Given the description of an element on the screen output the (x, y) to click on. 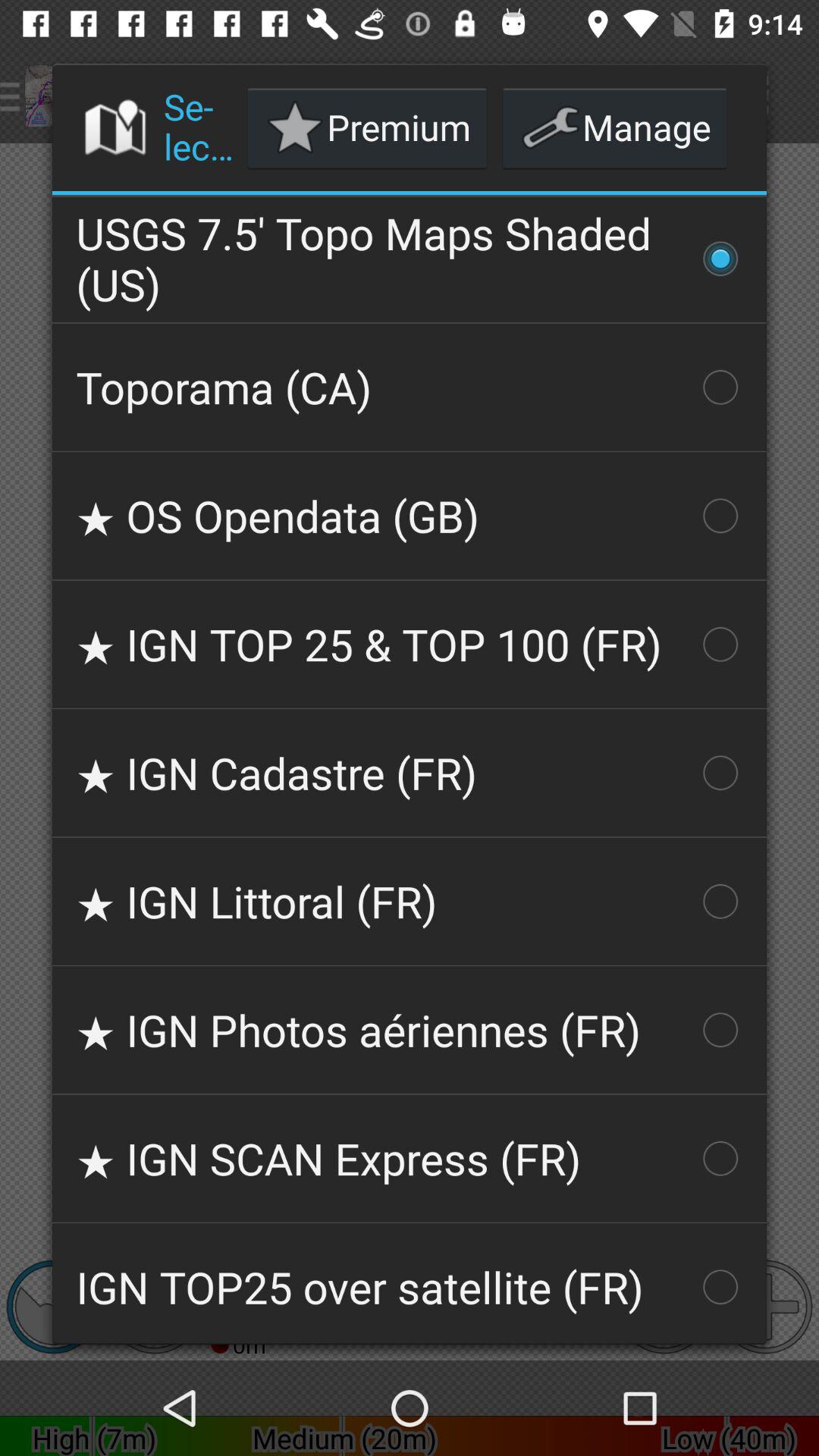
open icon next to the select a map (366, 127)
